Given the description of an element on the screen output the (x, y) to click on. 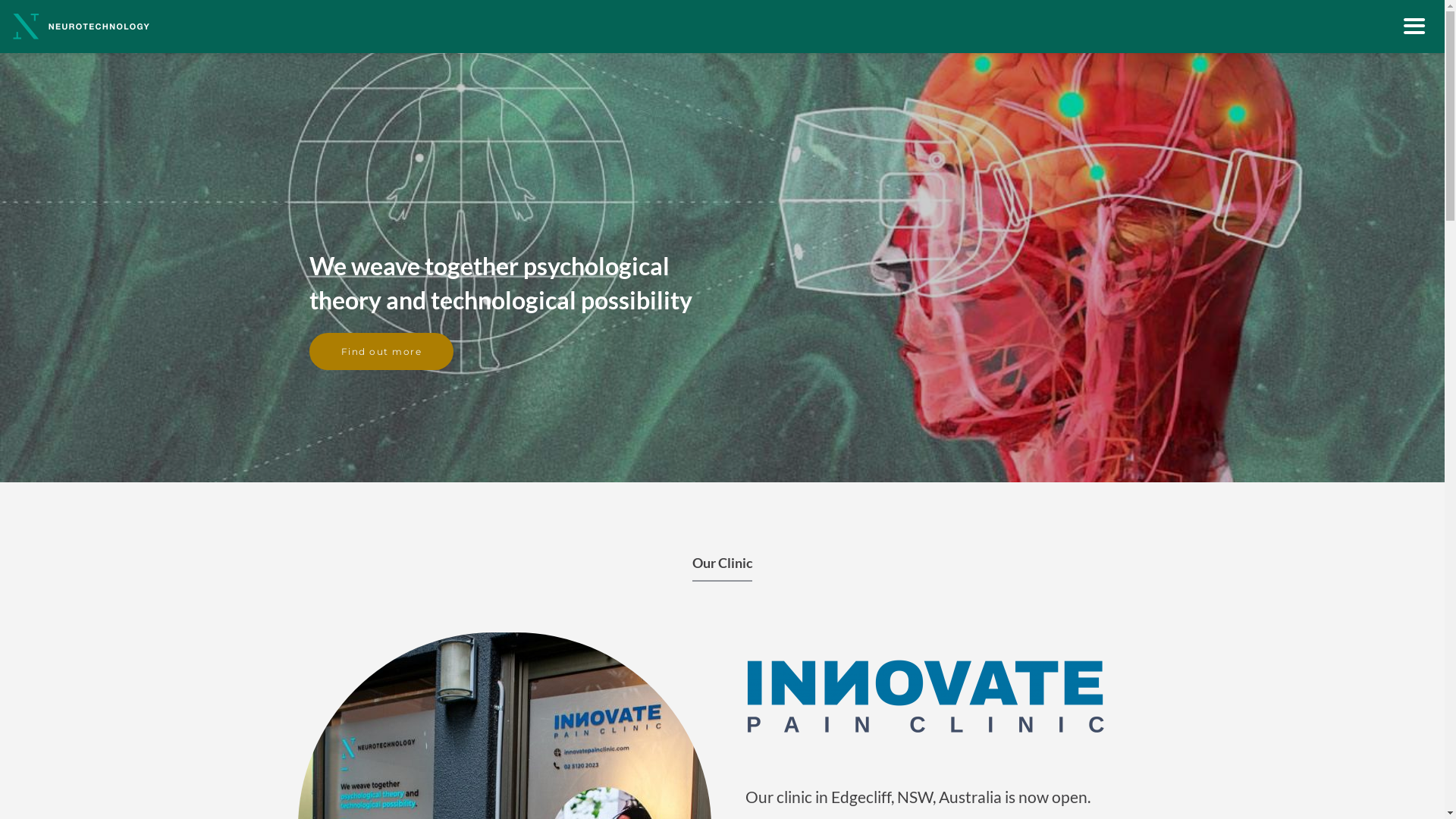
Find out more Element type: text (381, 351)
